Given the description of an element on the screen output the (x, y) to click on. 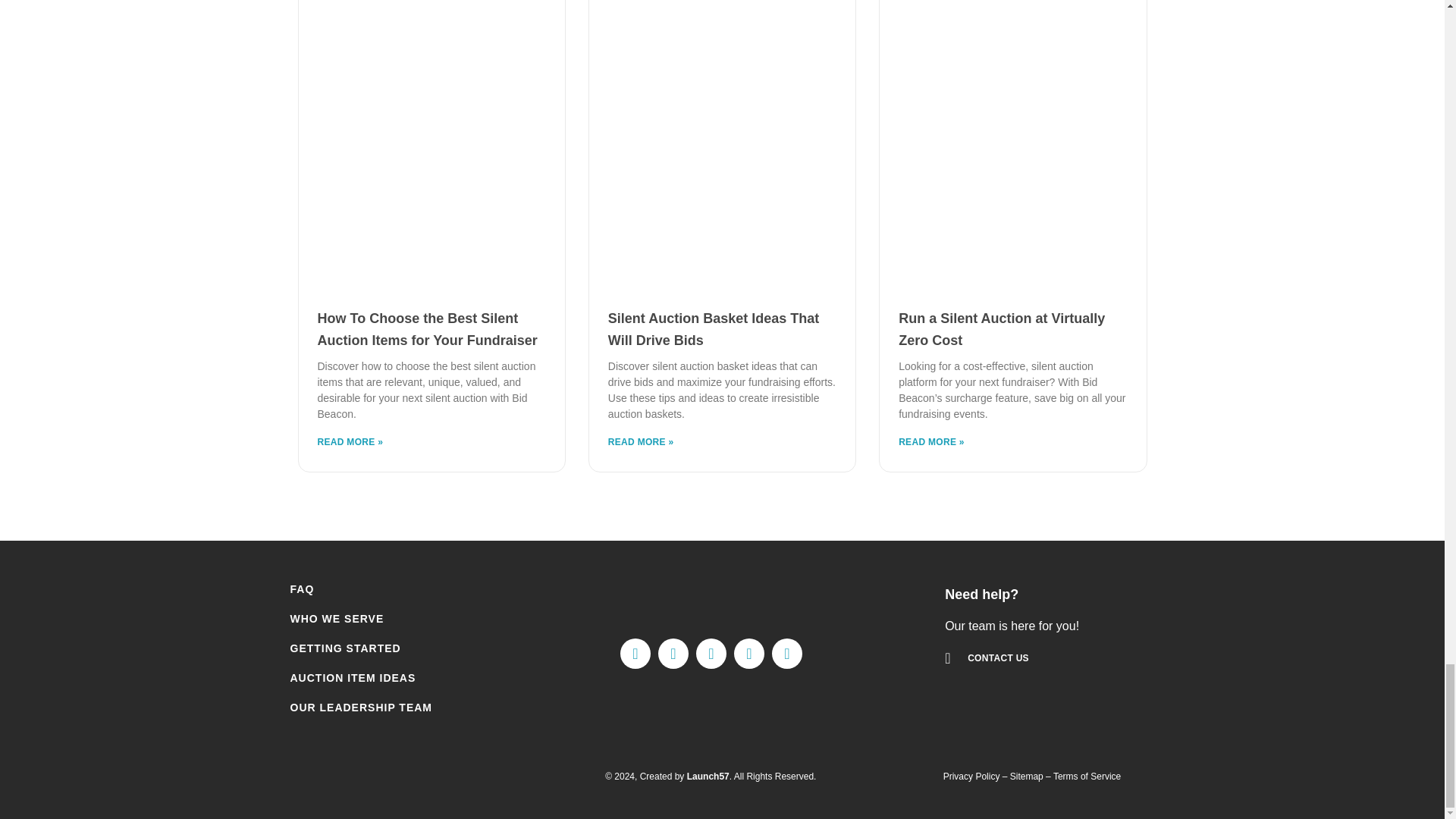
Run a Silent Auction at Virtually Zero Cost (1001, 329)
OUR LEADERSHIP TEAM (386, 707)
Facebook (635, 653)
Twitter (673, 653)
Silent Auction Basket Ideas That Will Drive Bids (713, 329)
GETTING STARTED (386, 649)
FAQ (386, 589)
AUCTION ITEM IDEAS (386, 678)
Linkedin (710, 653)
